Given the description of an element on the screen output the (x, y) to click on. 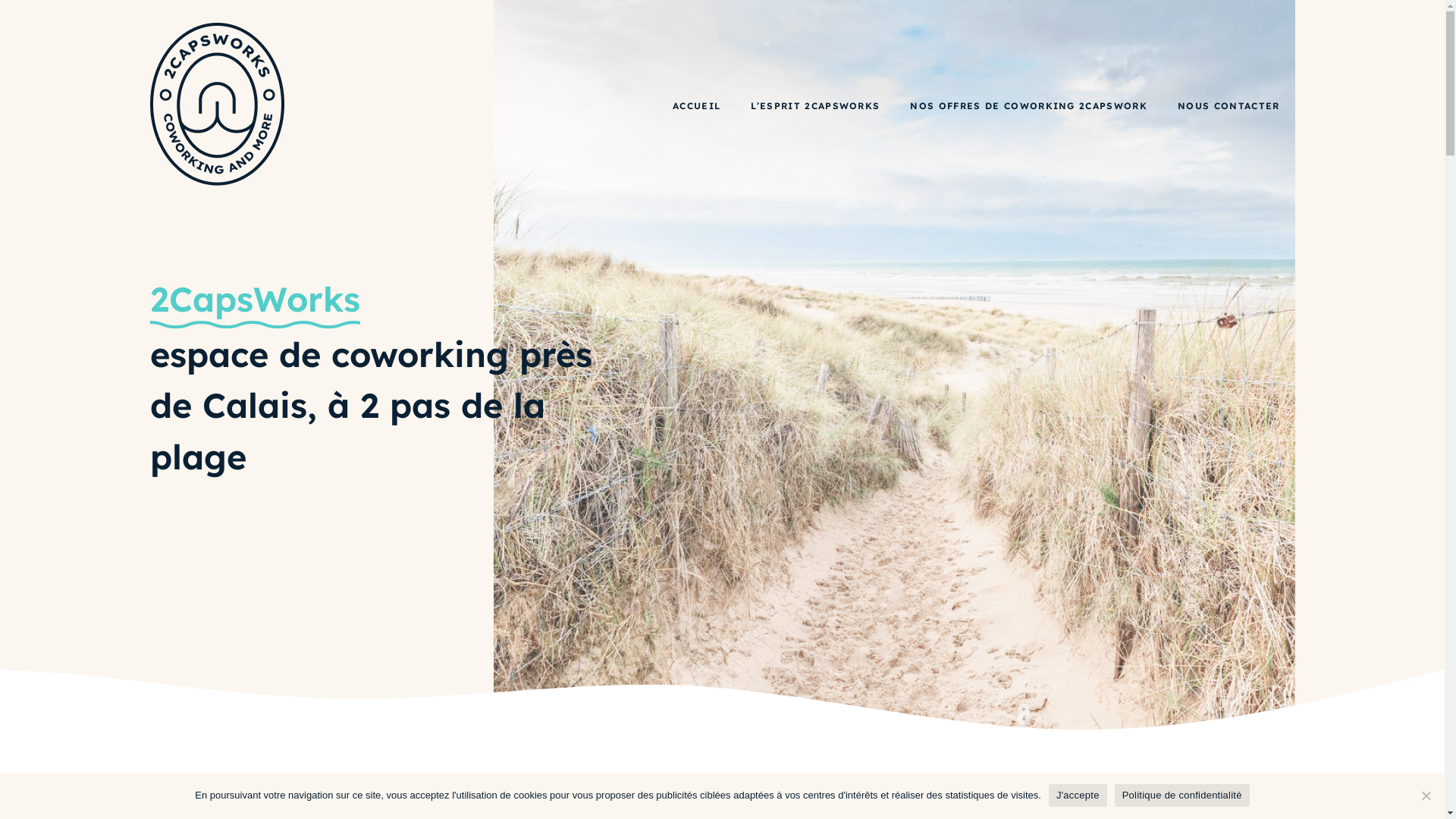
ACCUEIL Element type: text (696, 105)
NOS OFFRES DE COWORKING 2CAPSWORK Element type: text (1028, 105)
J'accepte Element type: text (1077, 795)
Non Element type: hover (1425, 795)
NOUS CONTACTER Element type: text (1228, 105)
